Given the description of an element on the screen output the (x, y) to click on. 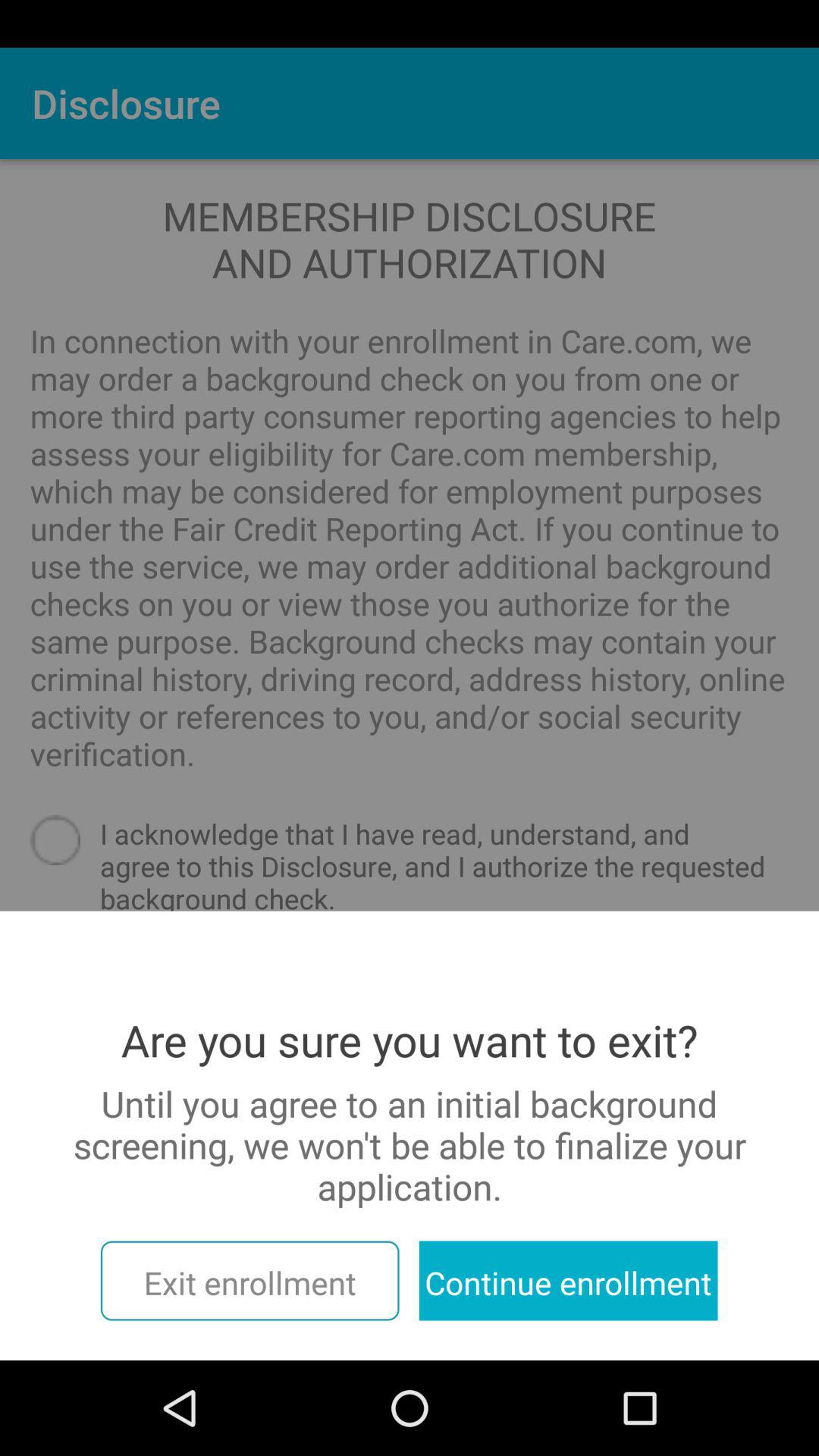
scroll until the exit enrollment item (249, 1280)
